Given the description of an element on the screen output the (x, y) to click on. 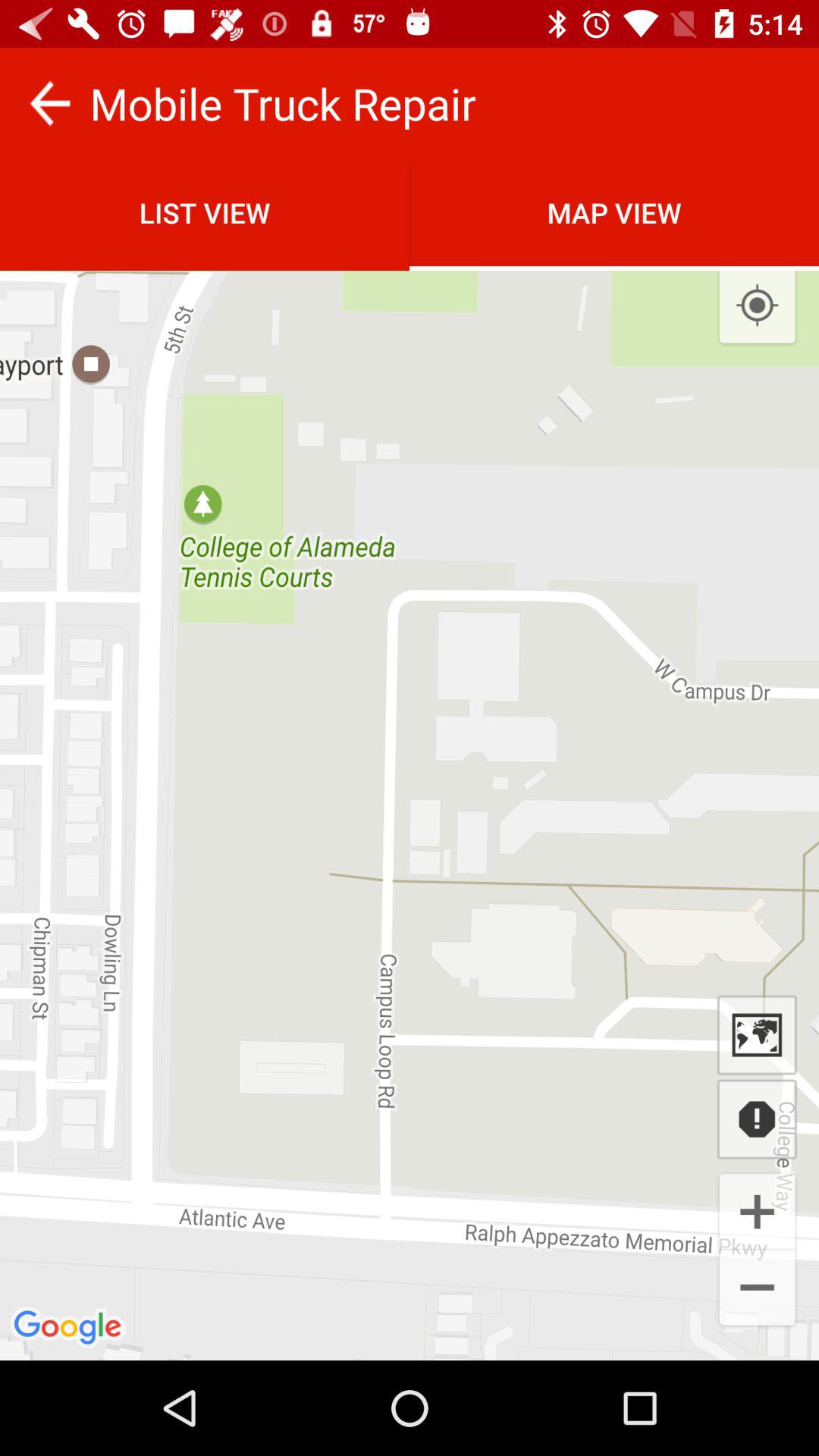
go to previous screen (49, 103)
